Given the description of an element on the screen output the (x, y) to click on. 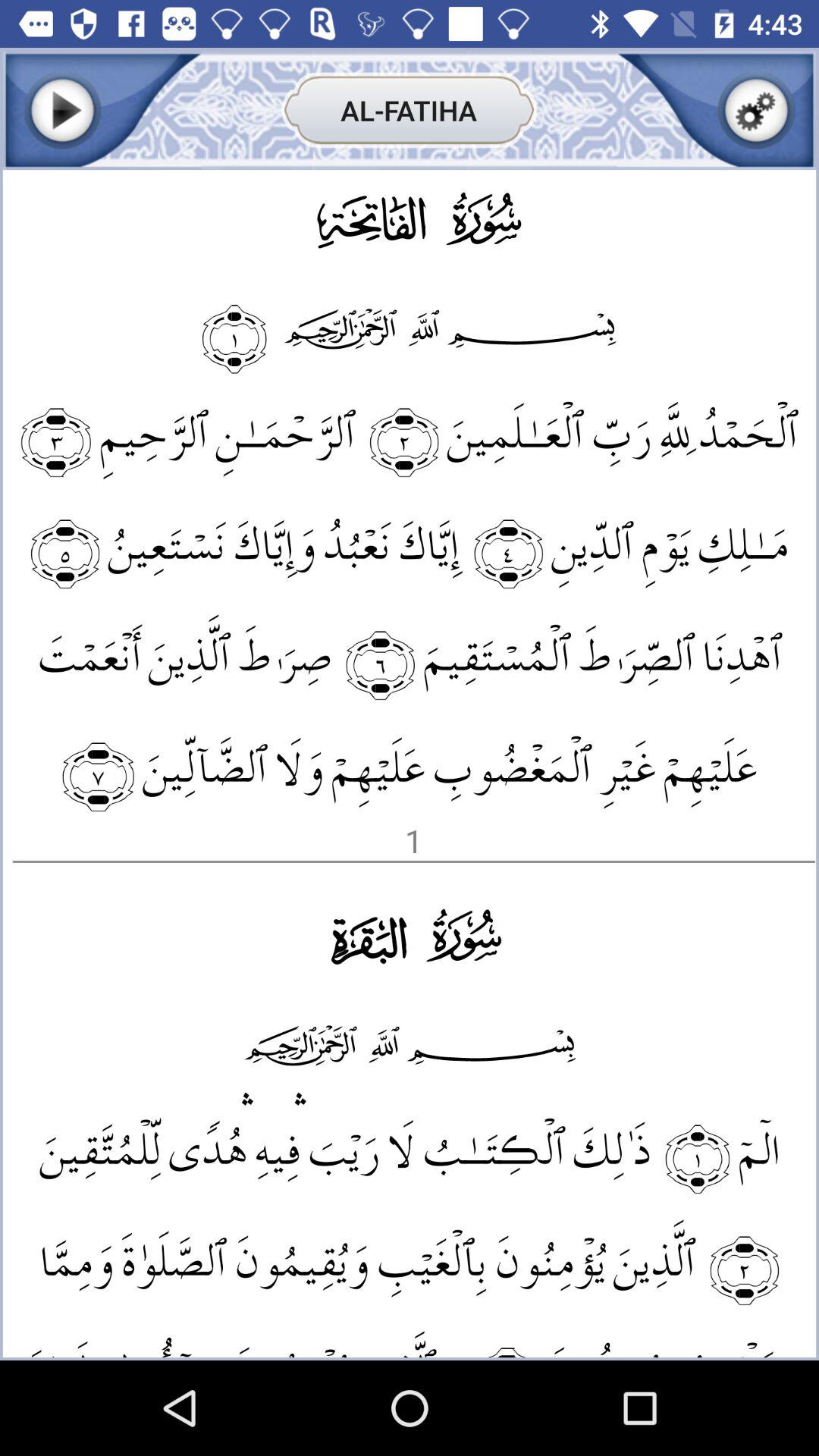
play (62, 110)
